Given the description of an element on the screen output the (x, y) to click on. 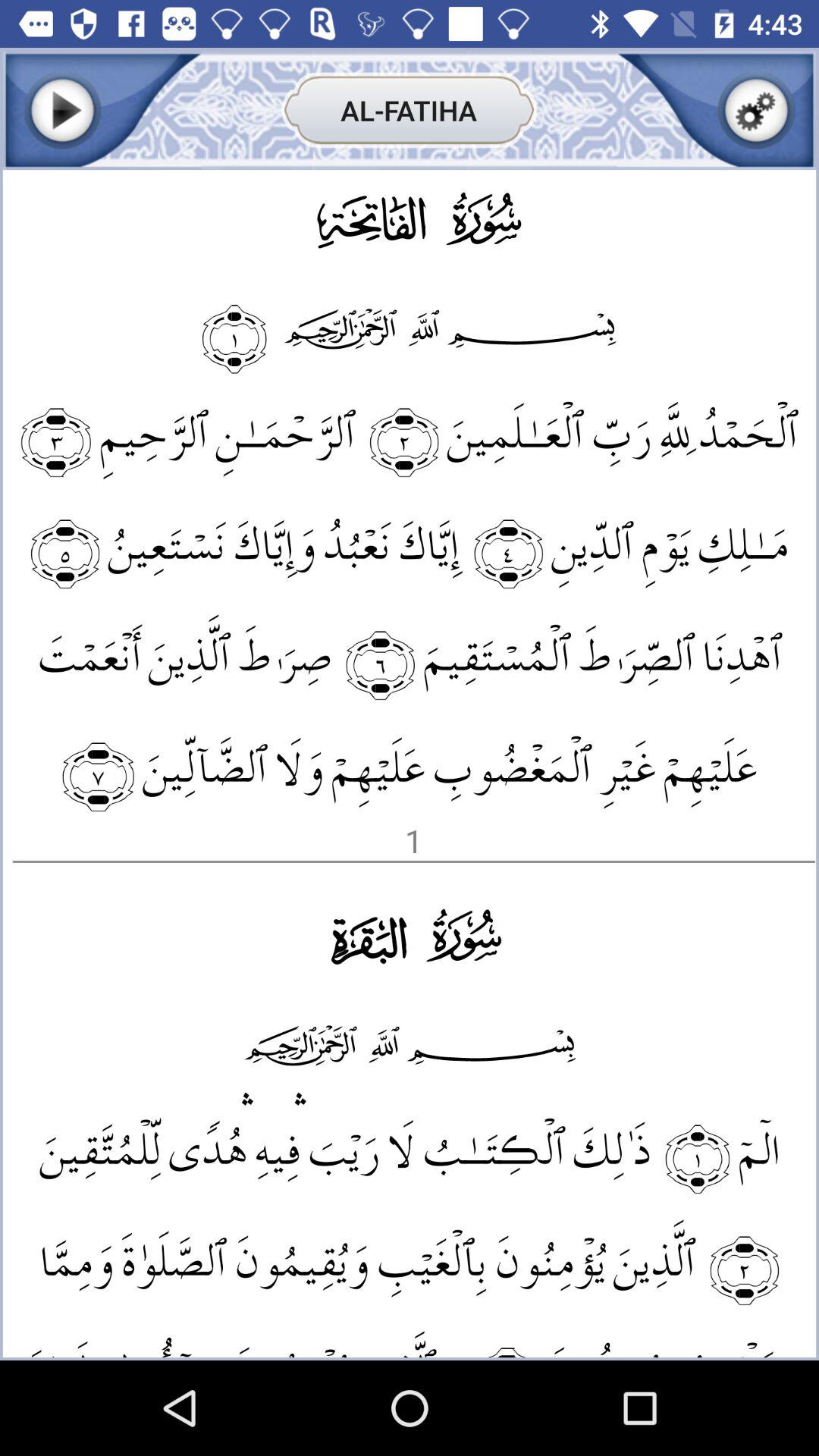
play (62, 110)
